Given the description of an element on the screen output the (x, y) to click on. 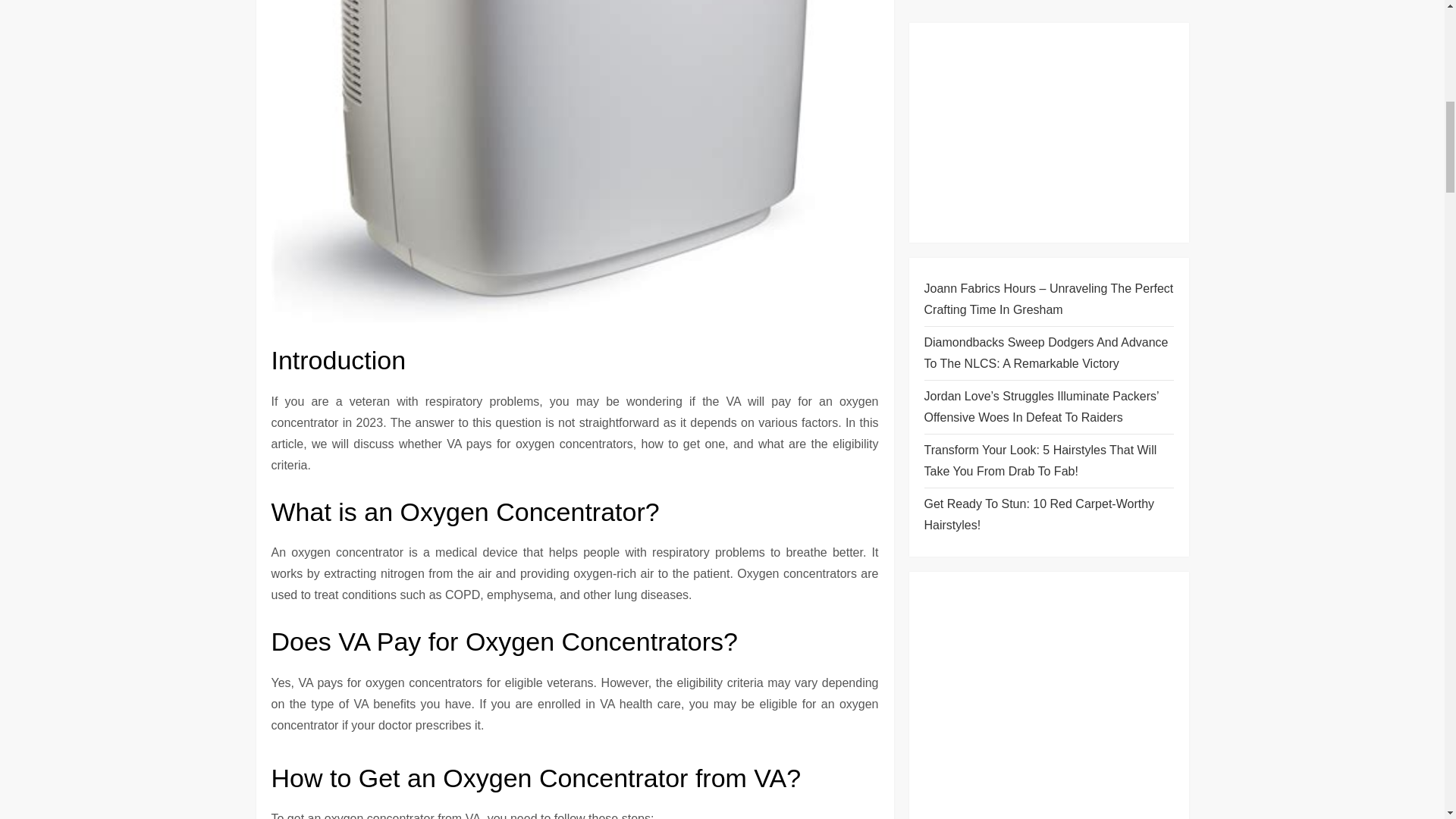
Advertisement (1037, 195)
